Given the description of an element on the screen output the (x, y) to click on. 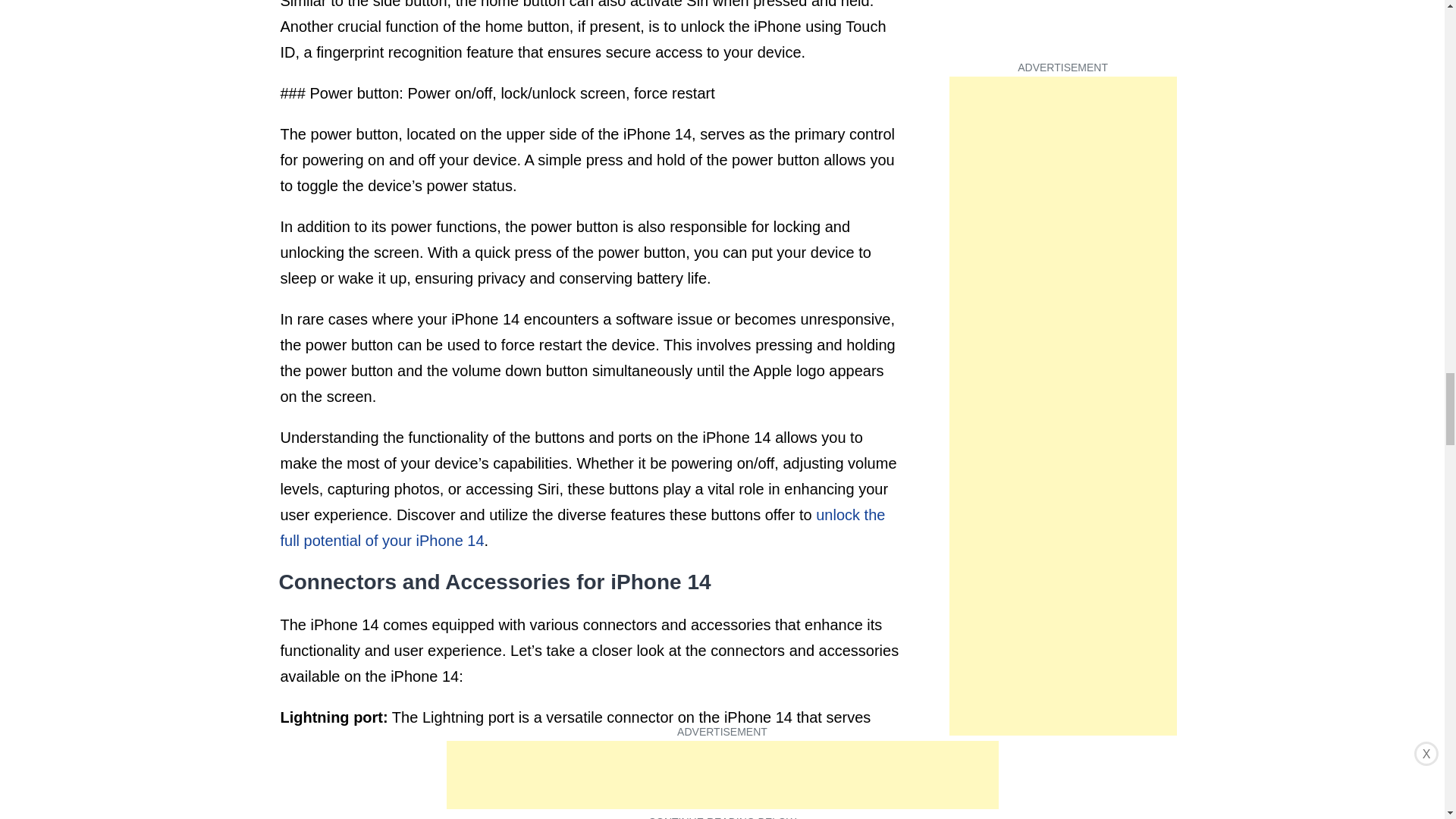
unlock the full potential of your iPhone 14 (583, 527)
